Given the description of an element on the screen output the (x, y) to click on. 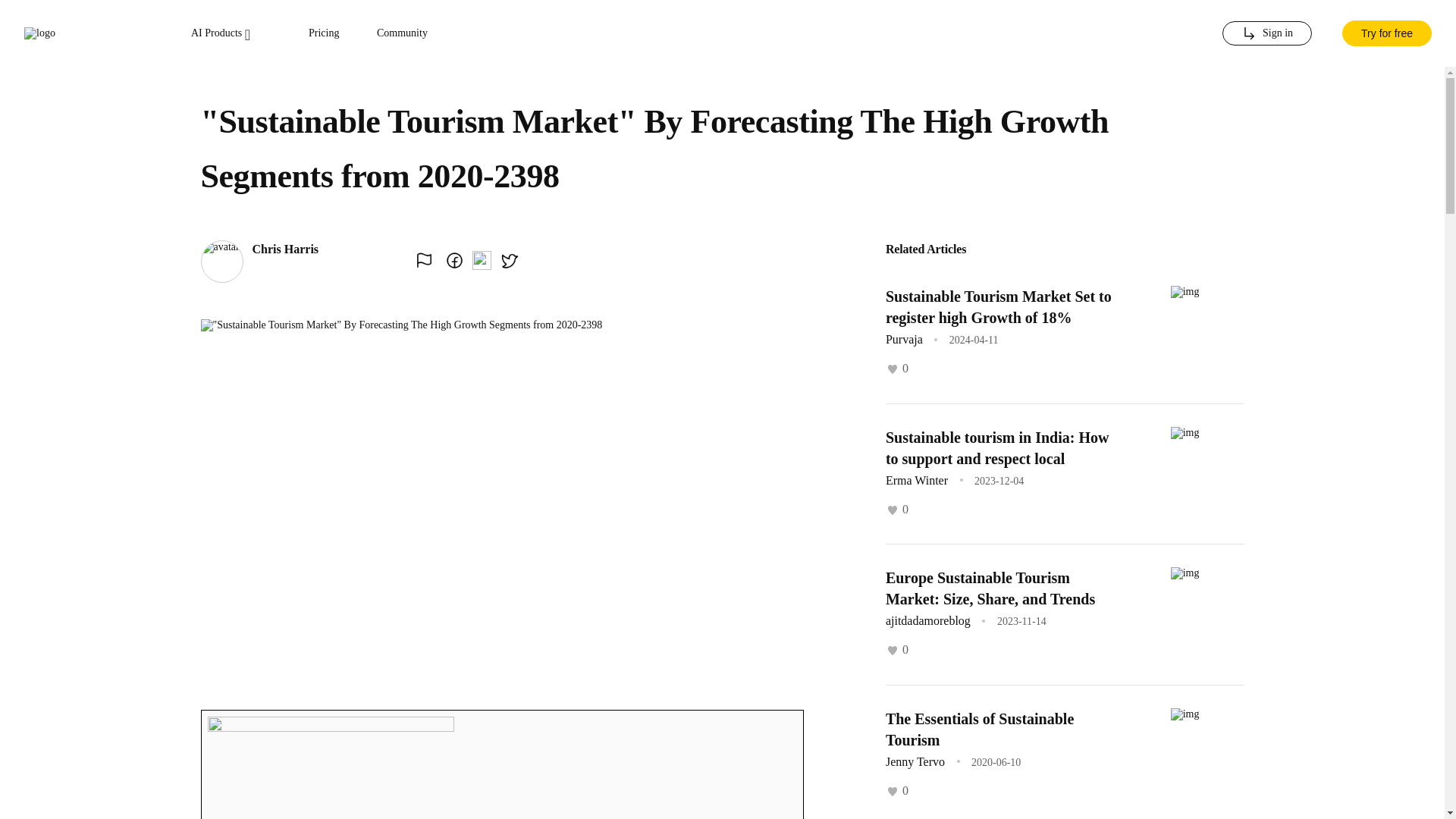
Try for free (1386, 32)
 Sign in (1267, 33)
Pricing (323, 33)
Community (402, 33)
The Essentials of Sustainable Tourism (979, 728)
